Given the description of an element on the screen output the (x, y) to click on. 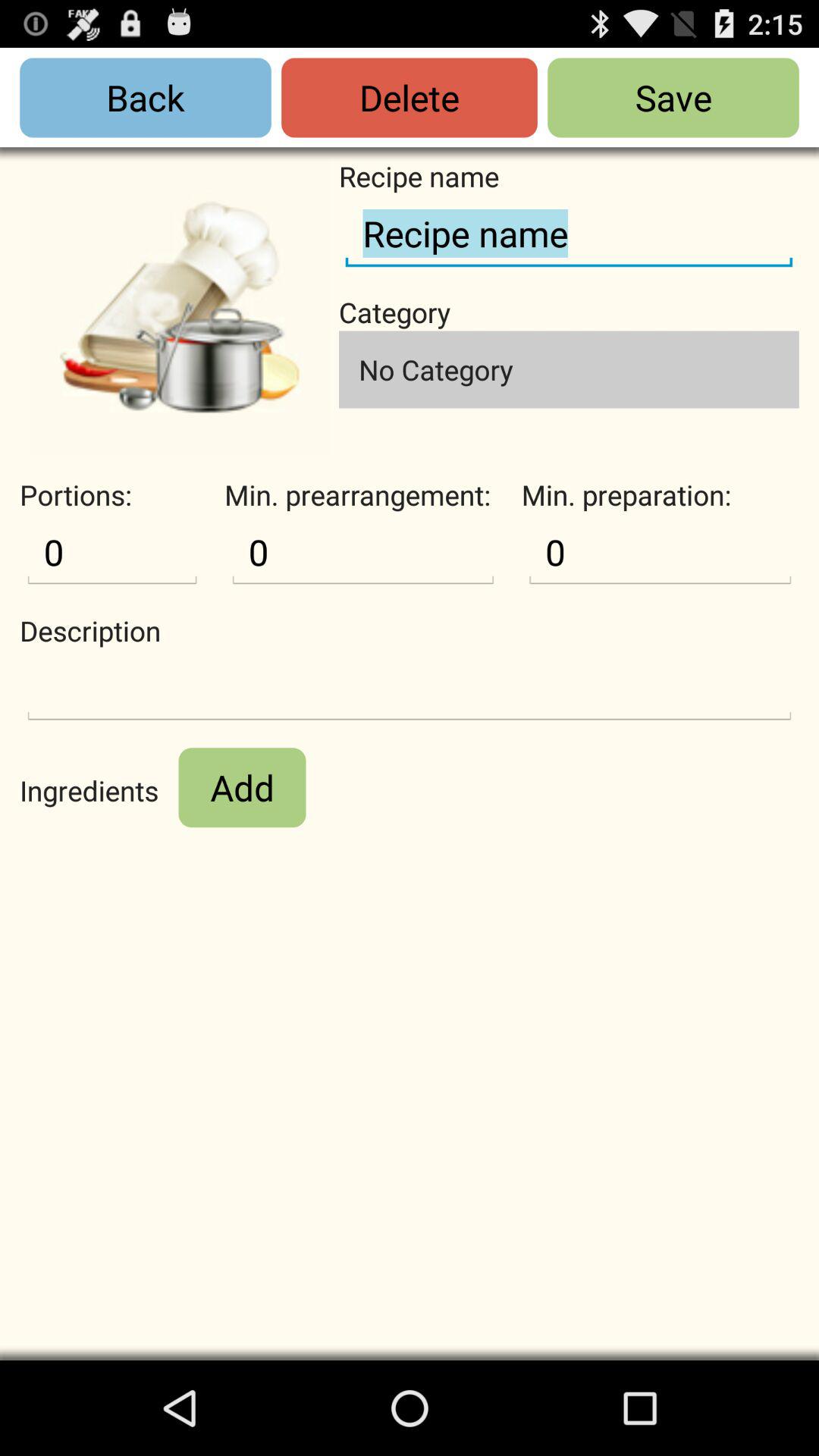
recipe image (179, 306)
